Given the description of an element on the screen output the (x, y) to click on. 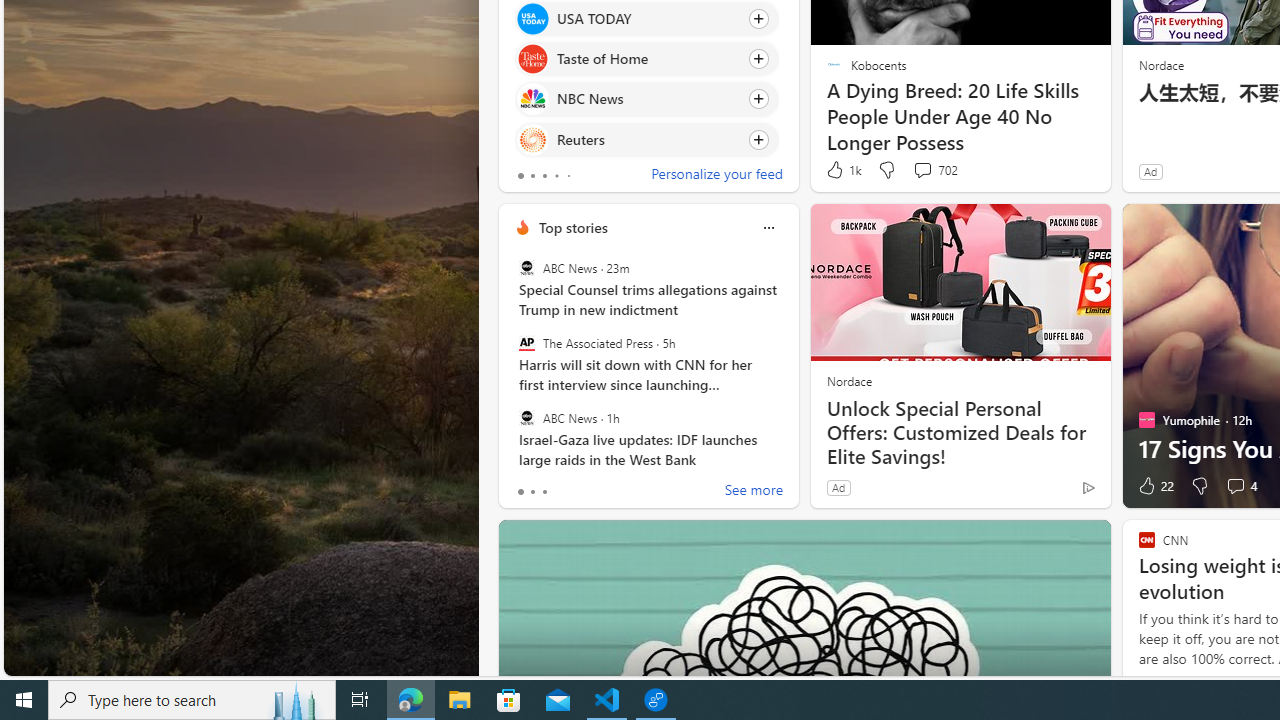
tab-2 (543, 491)
1k Like (842, 170)
View comments 702 Comment (934, 170)
Class: icon-img (768, 228)
Personalize your feed (716, 175)
Click to follow source Taste of Home (646, 59)
tab-4 (567, 175)
tab-1 (532, 491)
Taste of Home (532, 59)
View comments 4 Comment (1240, 485)
View comments 4 Comment (1234, 485)
Top stories (572, 227)
